Given the description of an element on the screen output the (x, y) to click on. 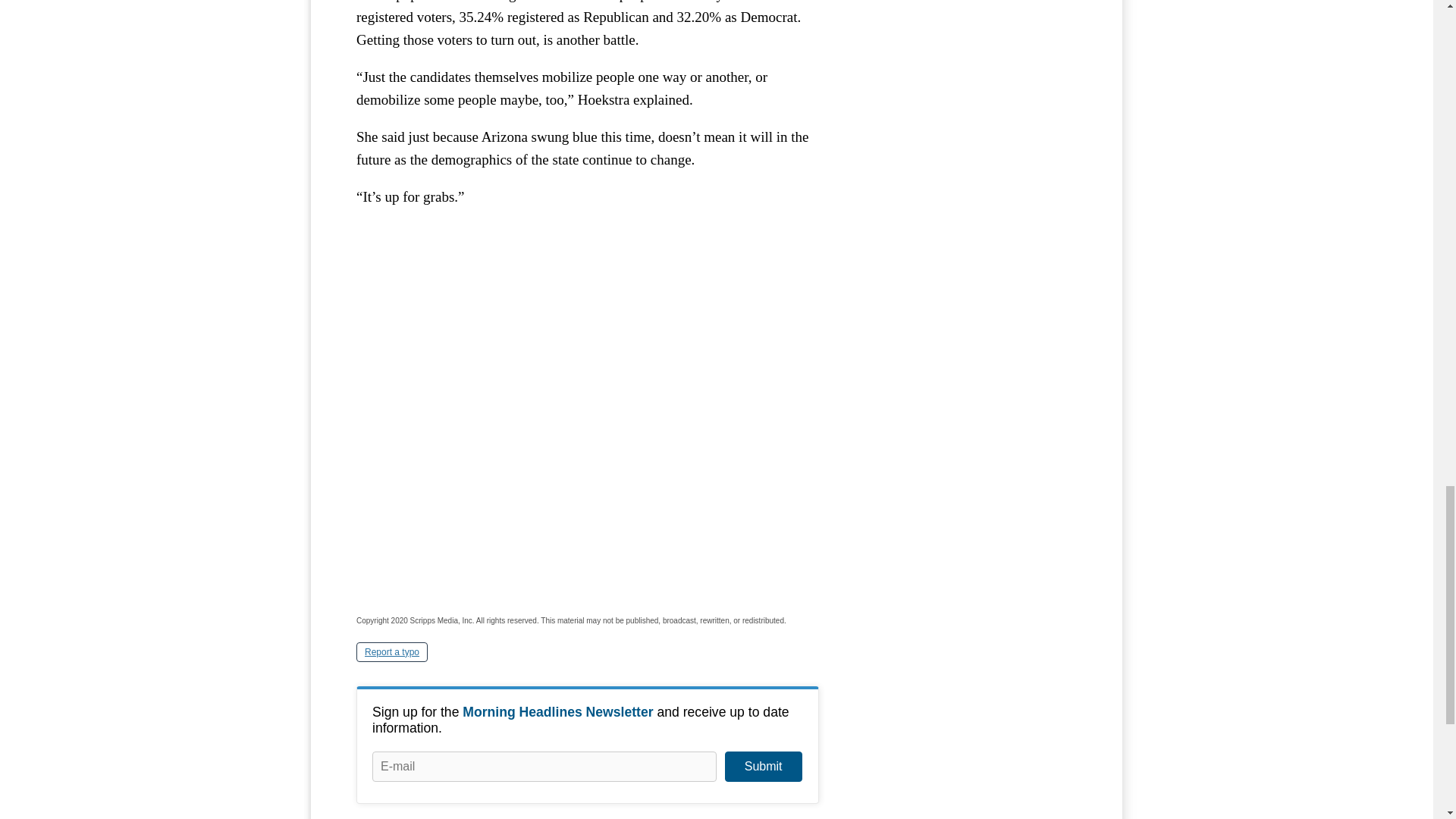
Submit (763, 766)
